Given the description of an element on the screen output the (x, y) to click on. 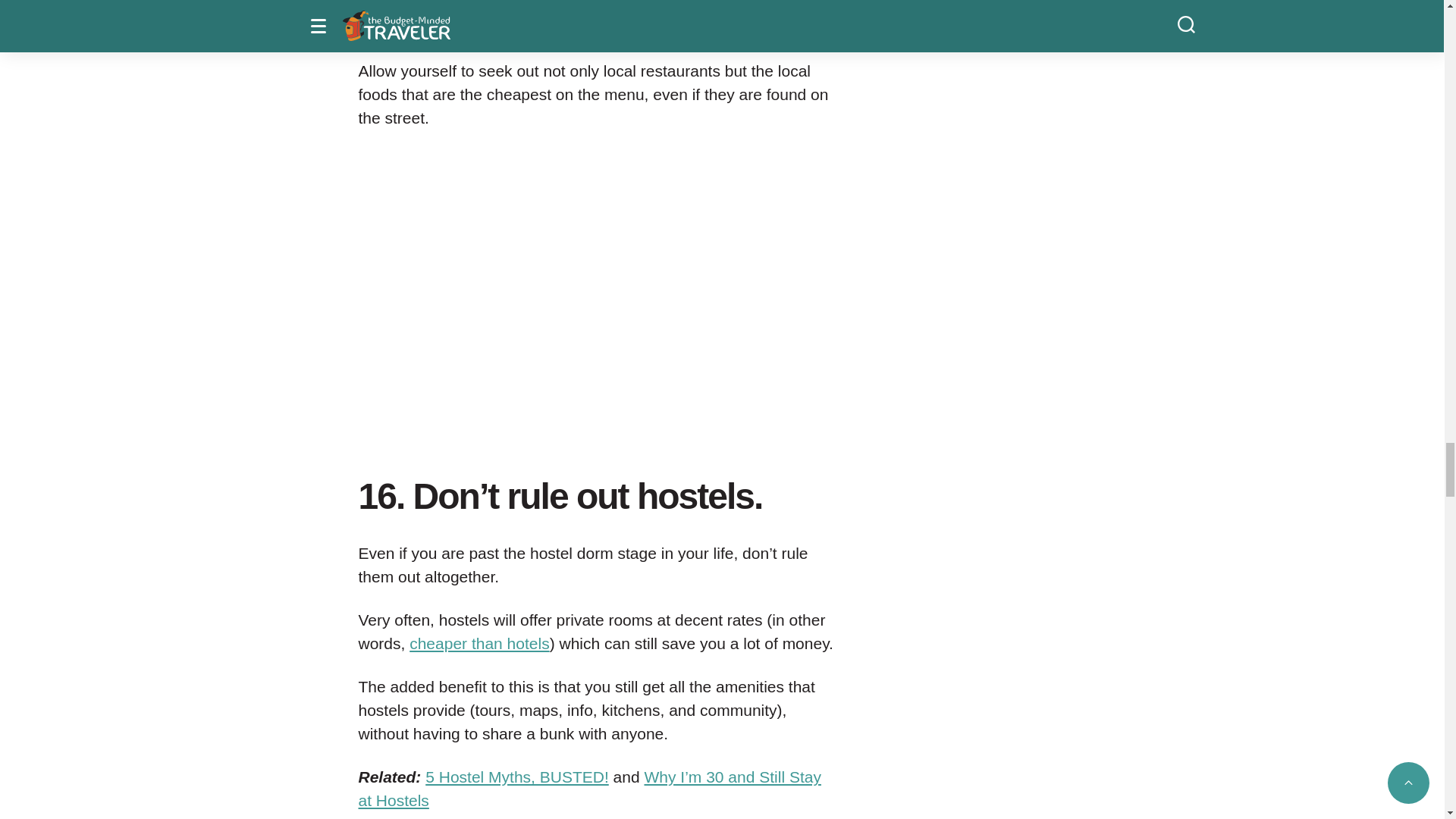
5 Hostel Myths, BUSTED! (516, 776)
cheaper than hotels (478, 642)
Watch Pad Thai Being Made at a Phuket Street Market (595, 293)
5 Hostel Myths, BUSTED! (516, 776)
